Given the description of an element on the screen output the (x, y) to click on. 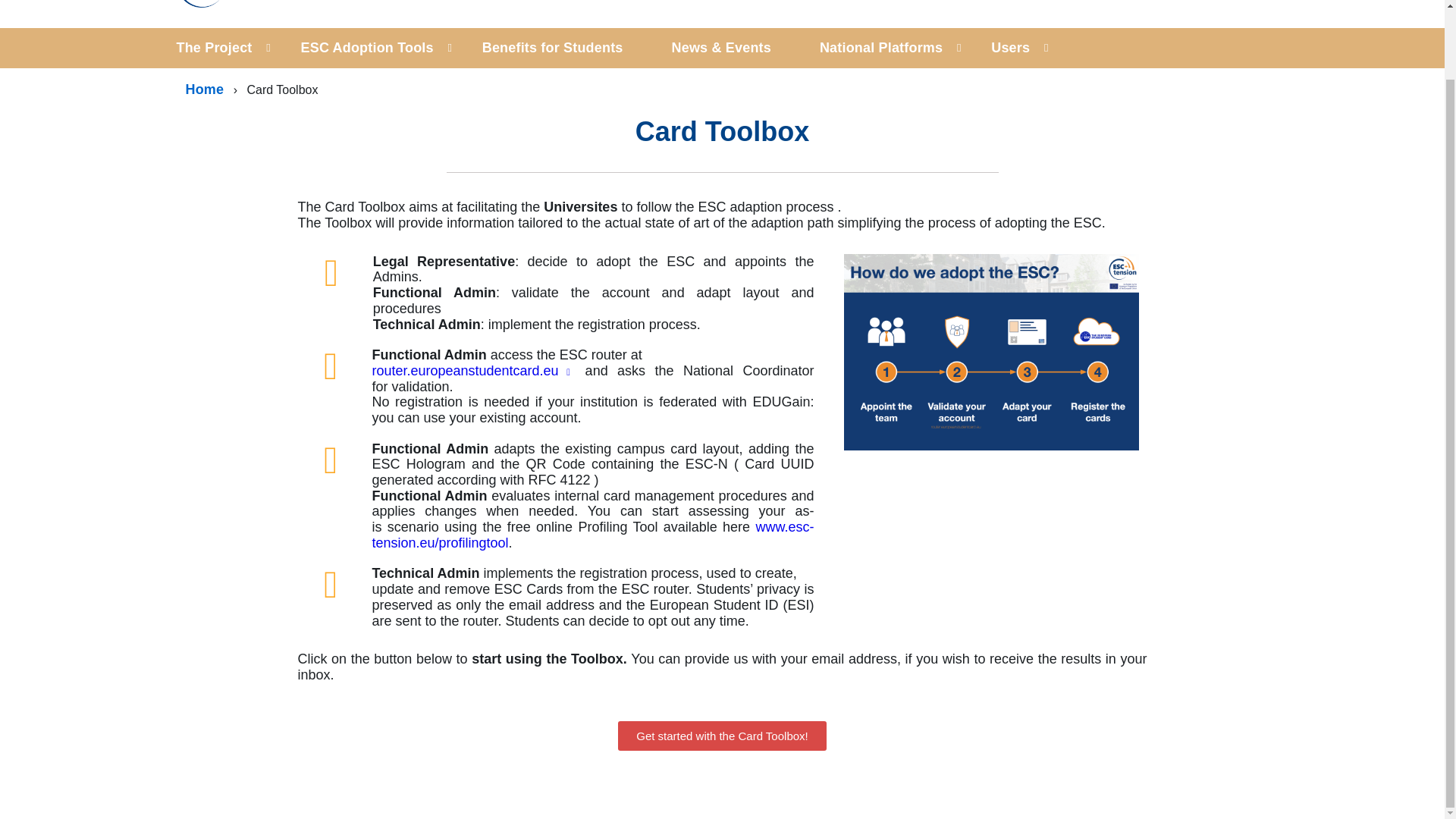
National Platforms (880, 47)
Users (1010, 47)
ESC Adoption Tools (367, 47)
Avvia la ricerca (1248, 1)
Benefits for Students (552, 47)
The Project (226, 47)
